Given the description of an element on the screen output the (x, y) to click on. 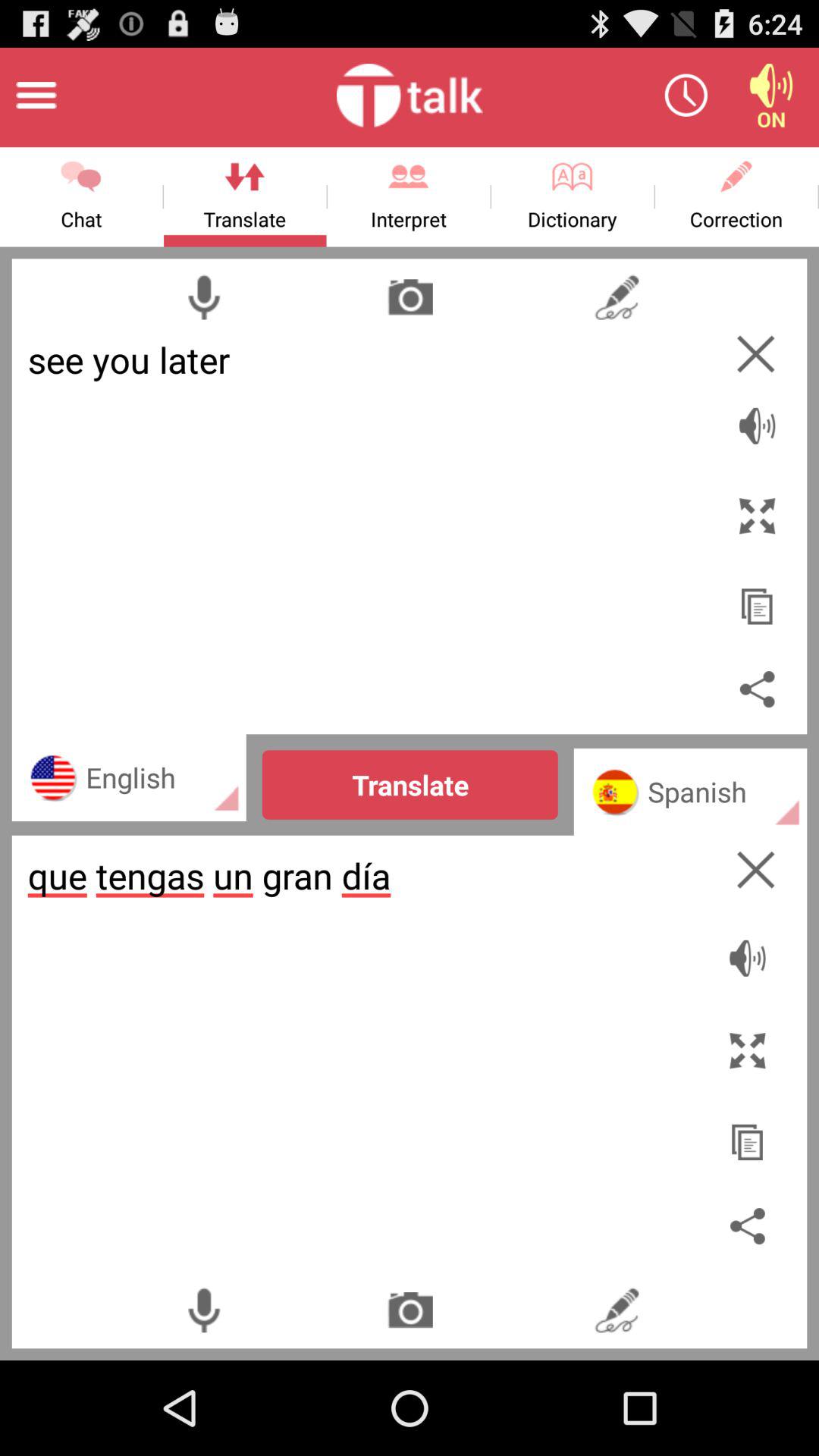
take a photo (410, 1309)
